Given the description of an element on the screen output the (x, y) to click on. 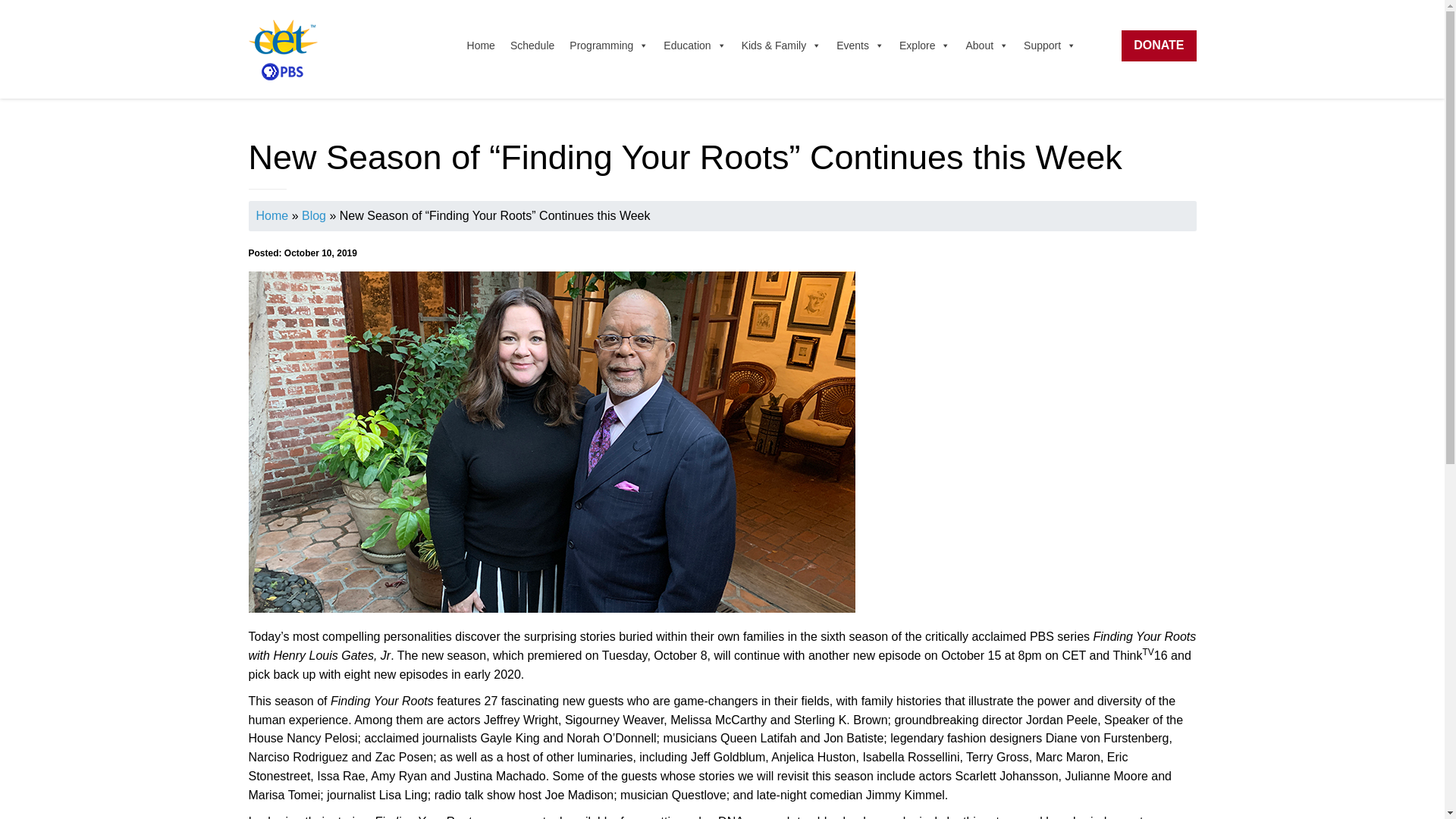
Programming (609, 45)
Schedule (532, 45)
Home (481, 45)
